Given the description of an element on the screen output the (x, y) to click on. 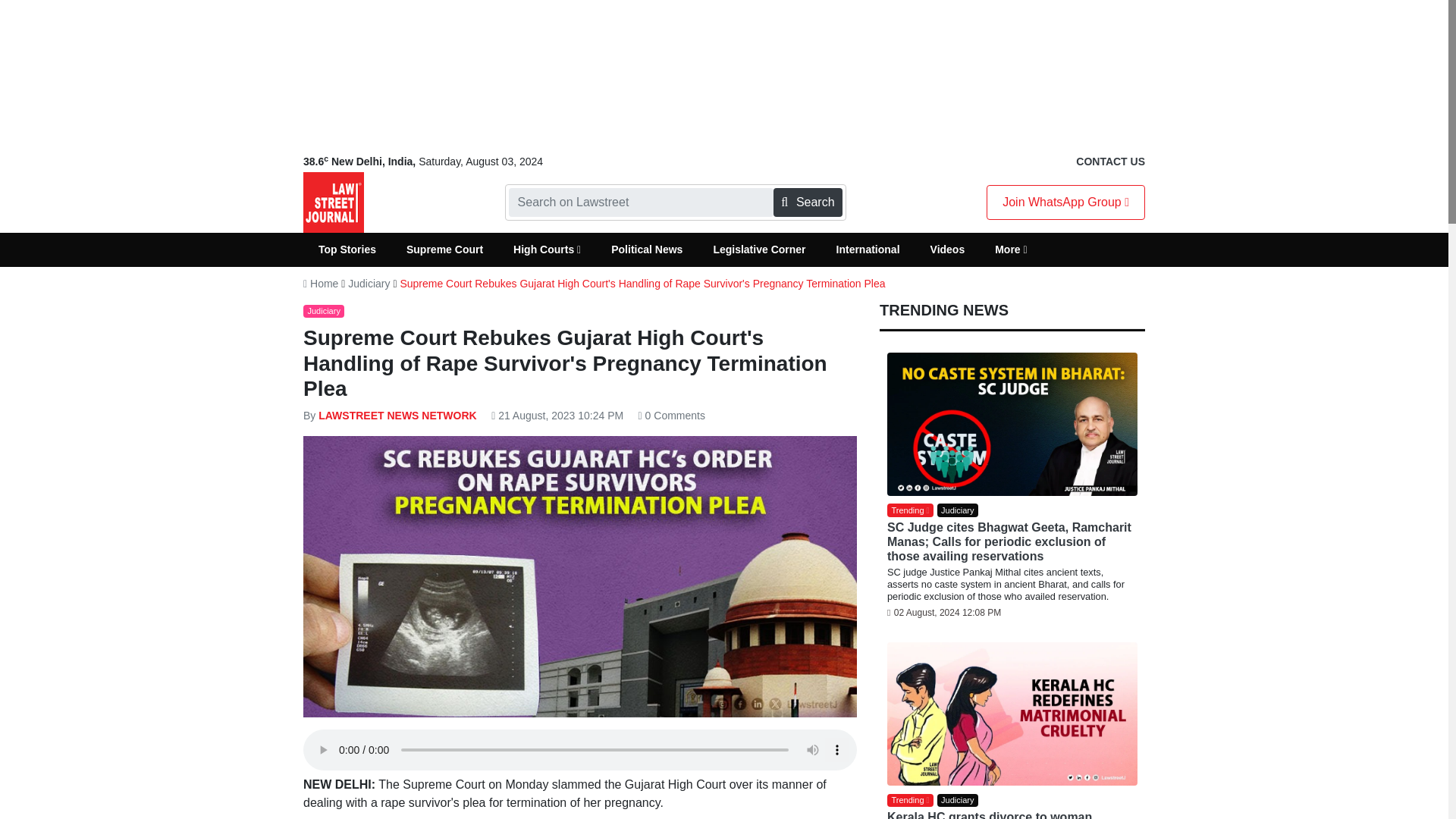
CONTACT US (1109, 161)
High Courts (546, 249)
Top Stories (346, 249)
Search (807, 202)
More (1010, 249)
LawStreet Journal (333, 201)
International (868, 249)
Political News (646, 249)
Legislative Corner (759, 249)
Supreme Court (444, 249)
Videos (947, 249)
Join WhatsApp Group (1065, 202)
